Given the description of an element on the screen output the (x, y) to click on. 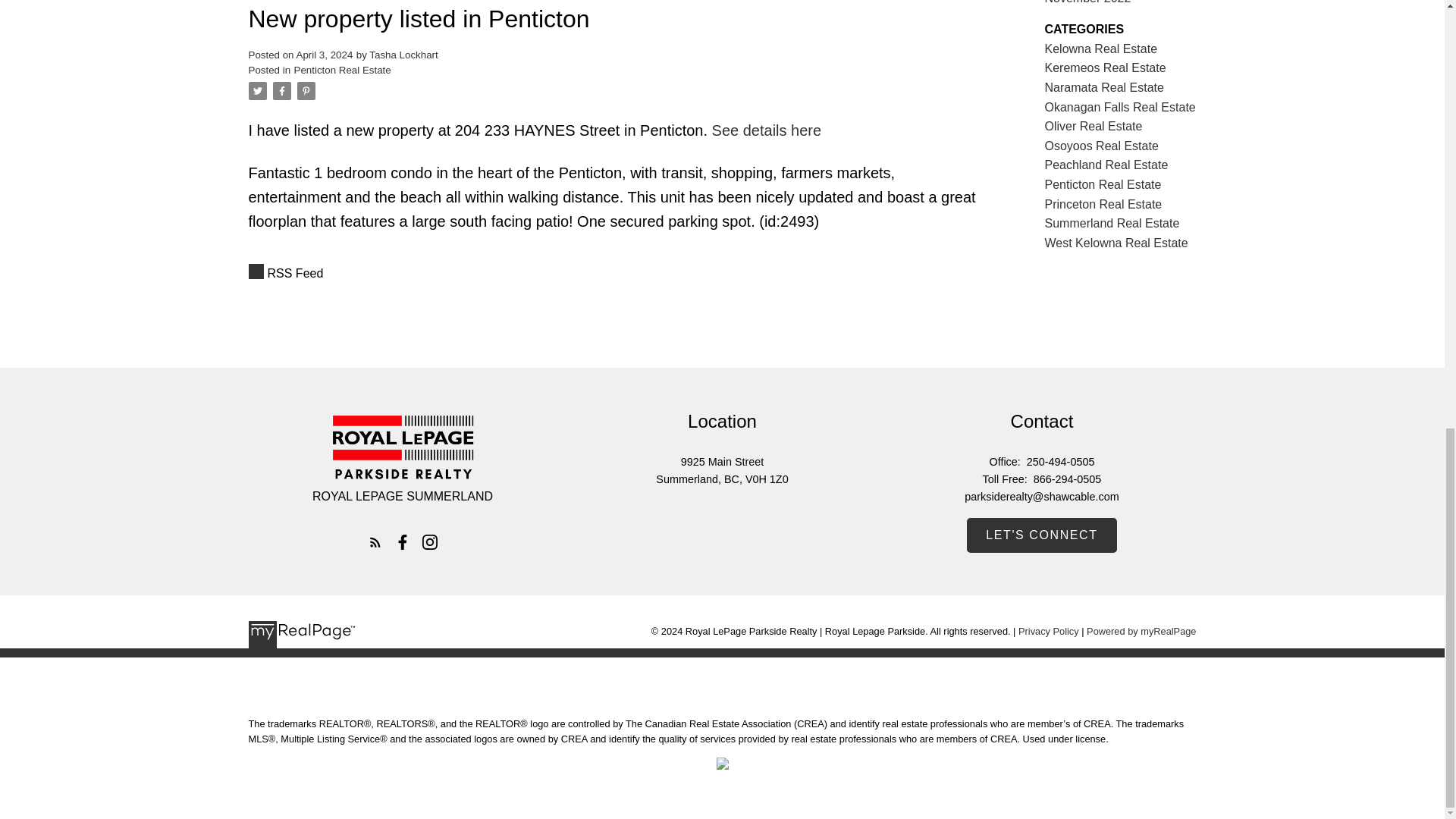
RSS (616, 273)
Penticton Real Estate (342, 70)
See details here (766, 130)
